Given the description of an element on the screen output the (x, y) to click on. 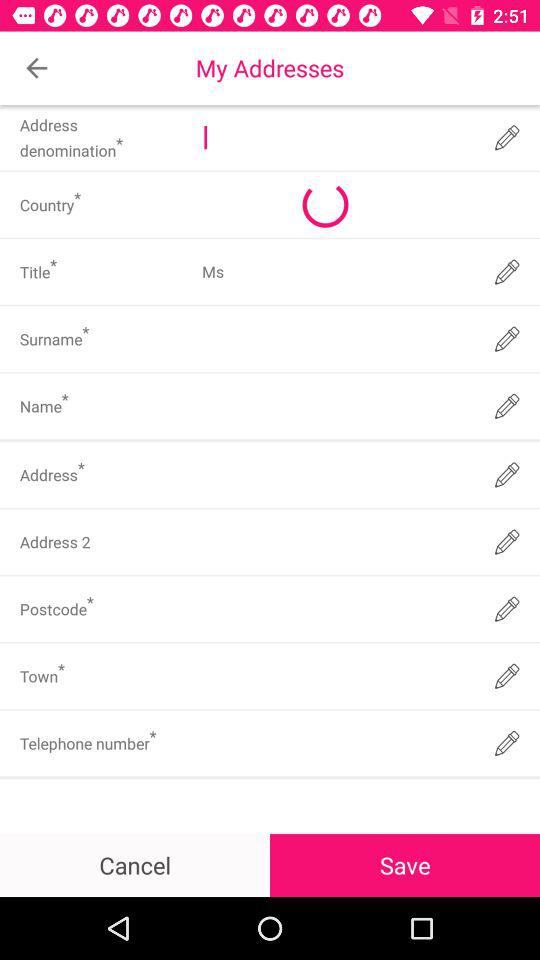
address field (335, 474)
